Given the description of an element on the screen output the (x, y) to click on. 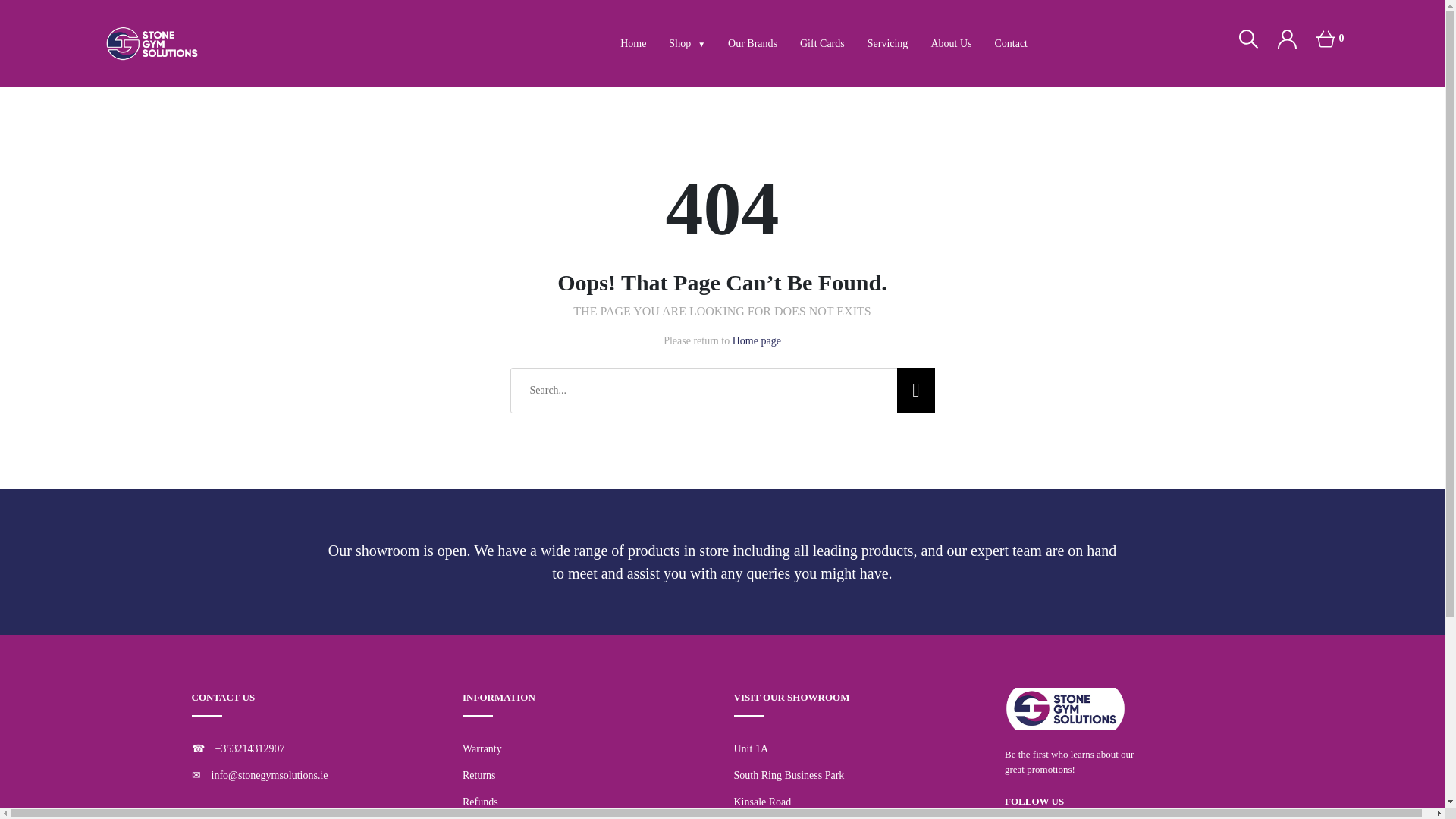
Home (633, 43)
Home (633, 43)
